Given the description of an element on the screen output the (x, y) to click on. 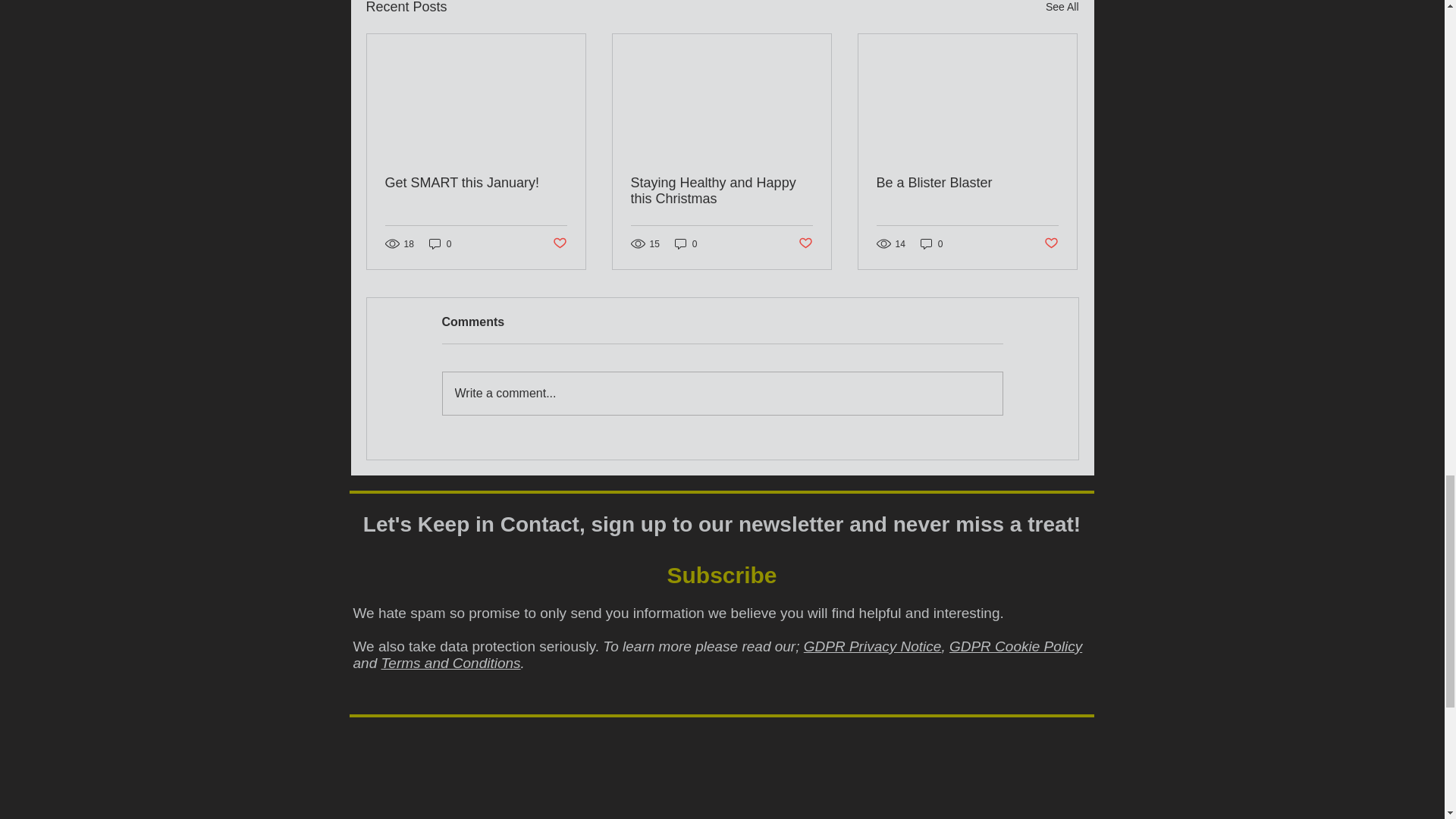
0 (440, 243)
Post not marked as liked (804, 243)
0 (685, 243)
Get SMART this January! (476, 182)
See All (1061, 9)
Staying Healthy and Happy this Christmas (721, 191)
Post not marked as liked (558, 243)
